Given the description of an element on the screen output the (x, y) to click on. 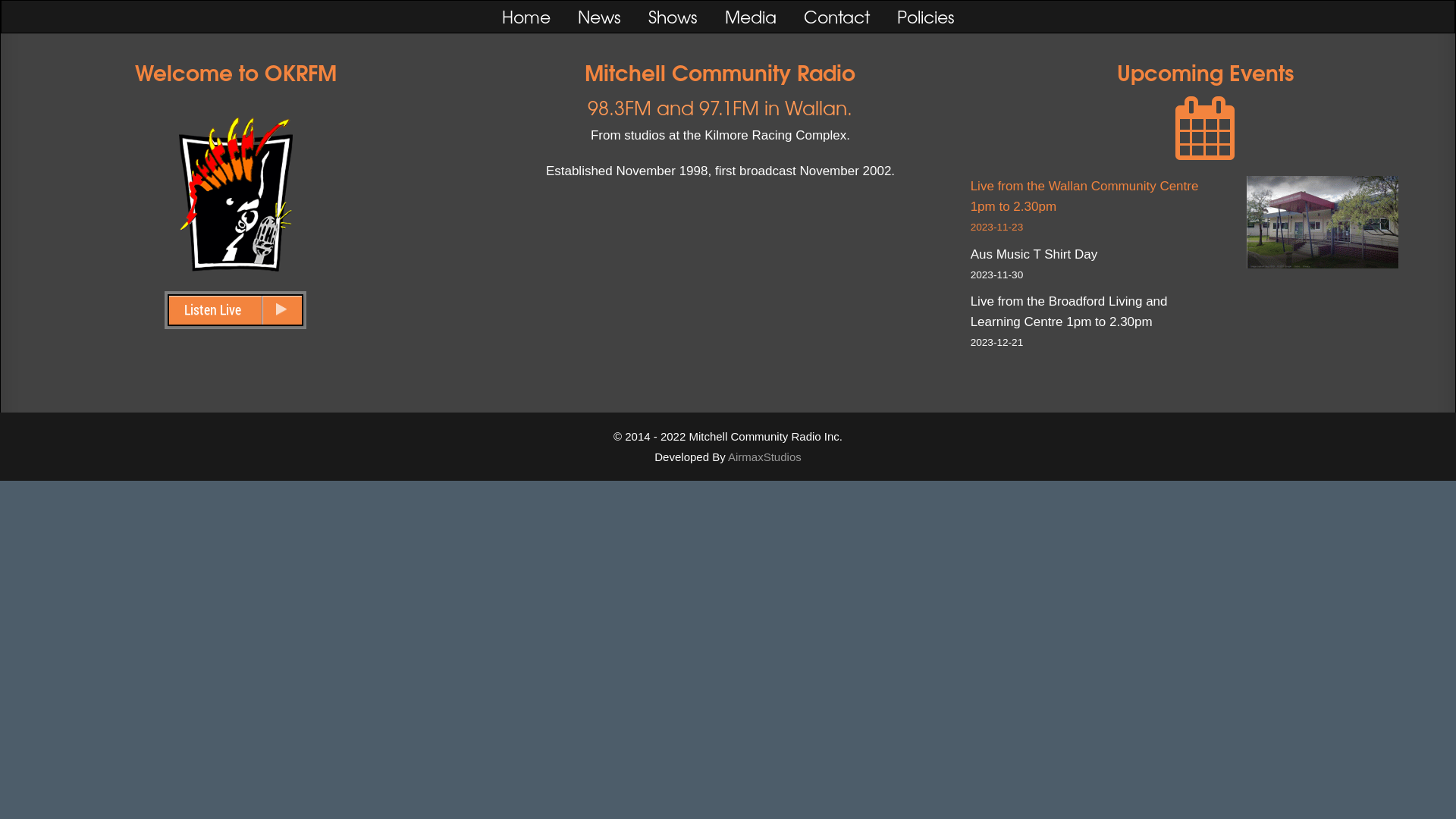
Media Element type: text (750, 16)
Contact Element type: text (836, 16)
Shows Element type: text (671, 16)
AirmaxStudios Element type: text (764, 456)
Listen Live Element type: text (235, 310)
News Element type: text (599, 16)
Home Element type: text (526, 16)
Policies Element type: text (924, 16)
Aus Music T Shirt Day
2023-11-30 Element type: text (1087, 266)
